Given the description of an element on the screen output the (x, y) to click on. 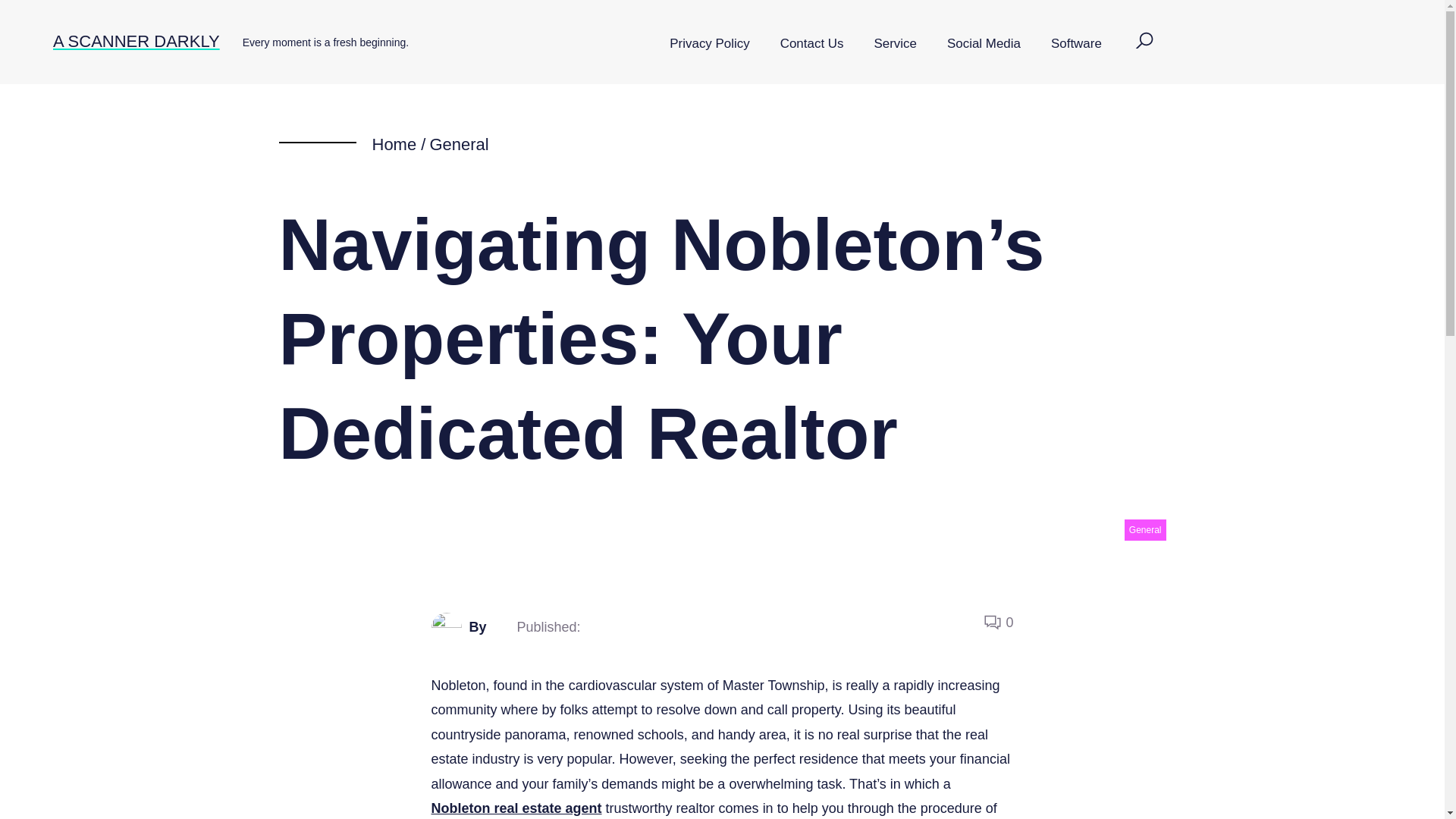
Nobleton real estate agent (515, 807)
Social Media (983, 43)
Privacy Policy (708, 43)
General (458, 144)
A SCANNER DARKLY (135, 40)
Contact Us (812, 43)
Home (393, 144)
Software (1075, 43)
Service (895, 43)
General (1145, 529)
